Given the description of an element on the screen output the (x, y) to click on. 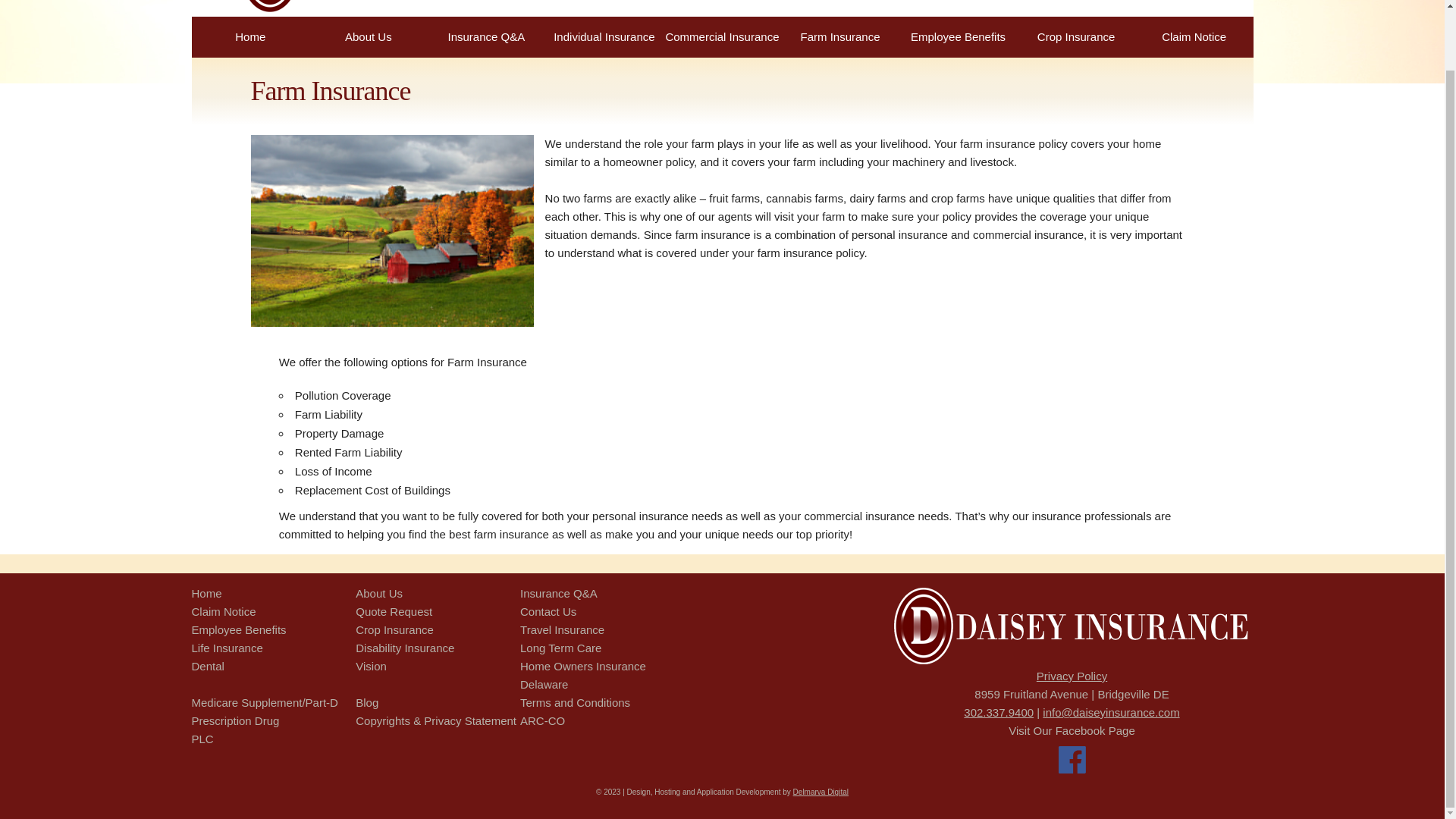
About Us (368, 36)
About Us (379, 593)
Home (205, 593)
